Given the description of an element on the screen output the (x, y) to click on. 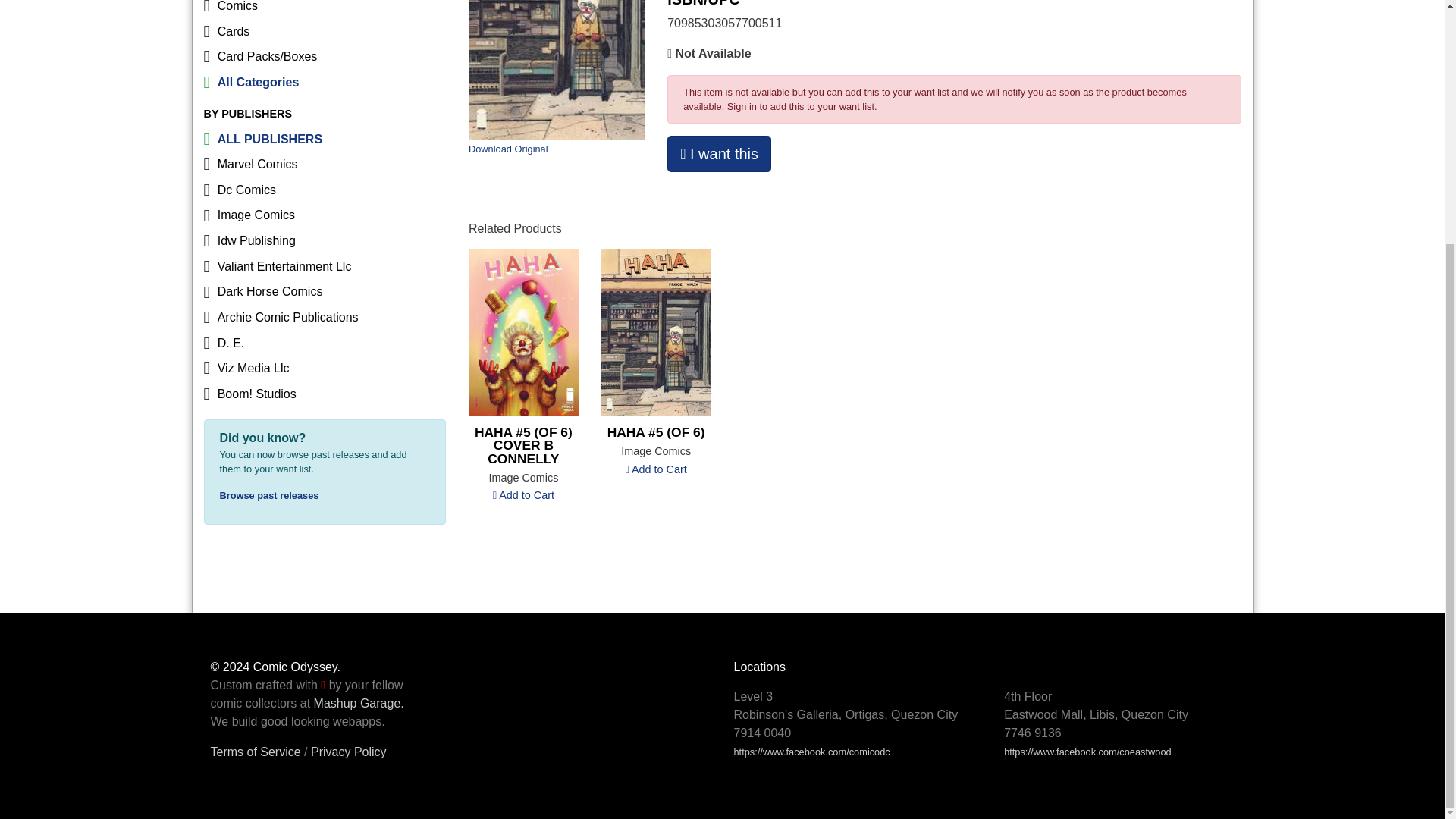
Marvel Comics (324, 164)
ALL PUBLISHERS (324, 139)
Dc Comics (324, 190)
All Categories (324, 82)
Image Comics (324, 216)
Comics (324, 9)
Cards (324, 31)
Idw Publishing (324, 240)
Valiant Entertainment Llc (324, 266)
